Given the description of an element on the screen output the (x, y) to click on. 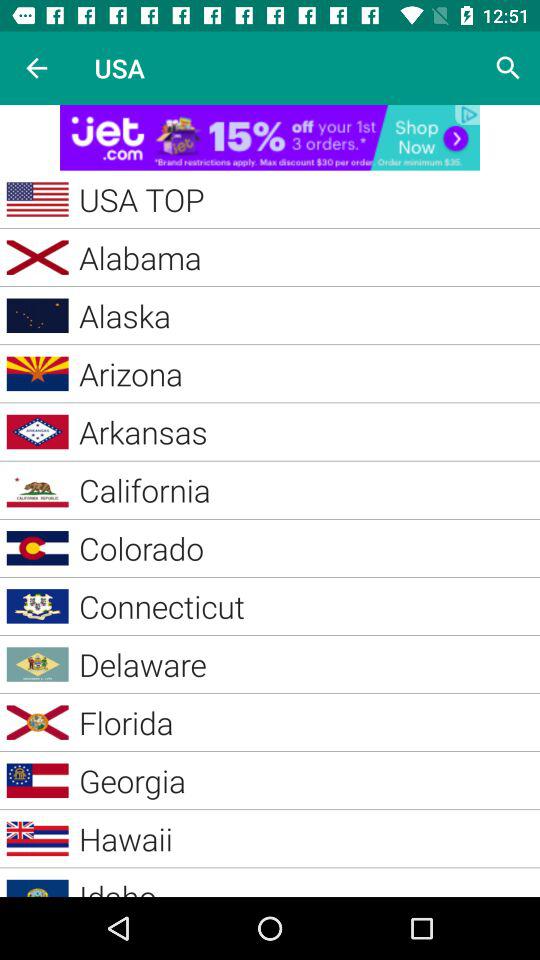
advertisement link (270, 137)
